Given the description of an element on the screen output the (x, y) to click on. 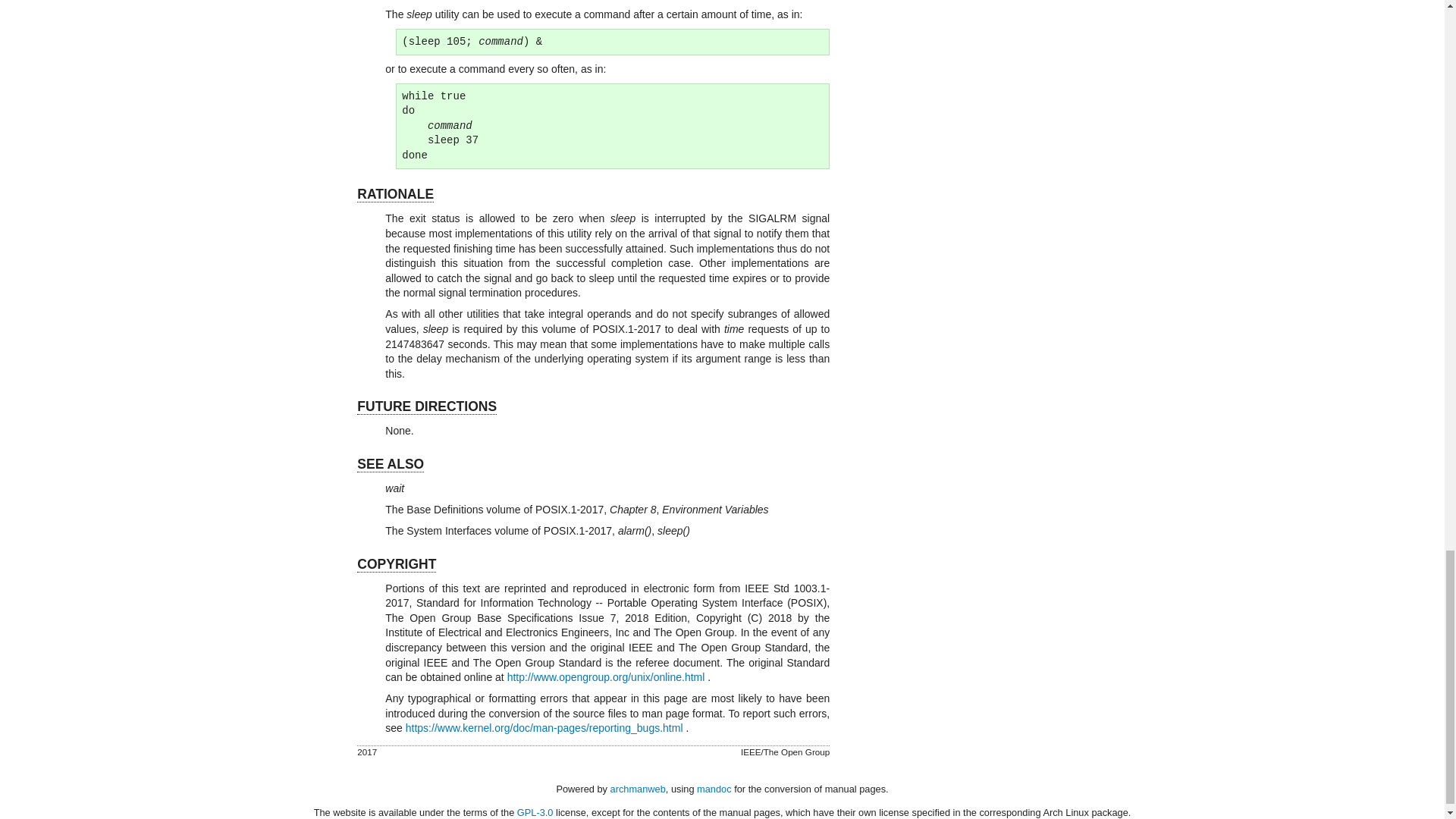
FUTURE DIRECTIONS (426, 406)
RATIONALE (394, 194)
SEE ALSO (389, 464)
COPYRIGHT (395, 564)
